Given the description of an element on the screen output the (x, y) to click on. 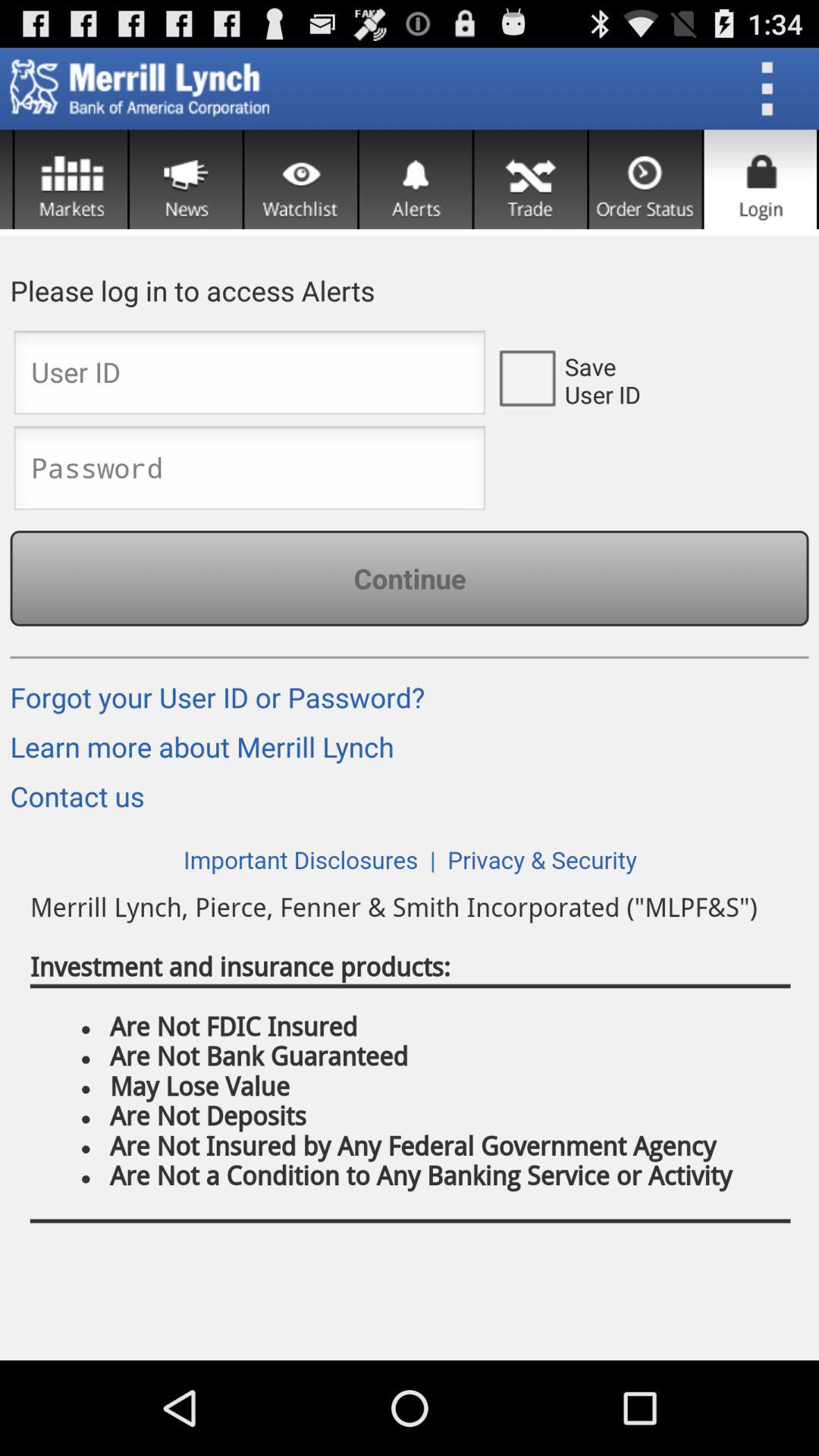
news button (185, 179)
